Given the description of an element on the screen output the (x, y) to click on. 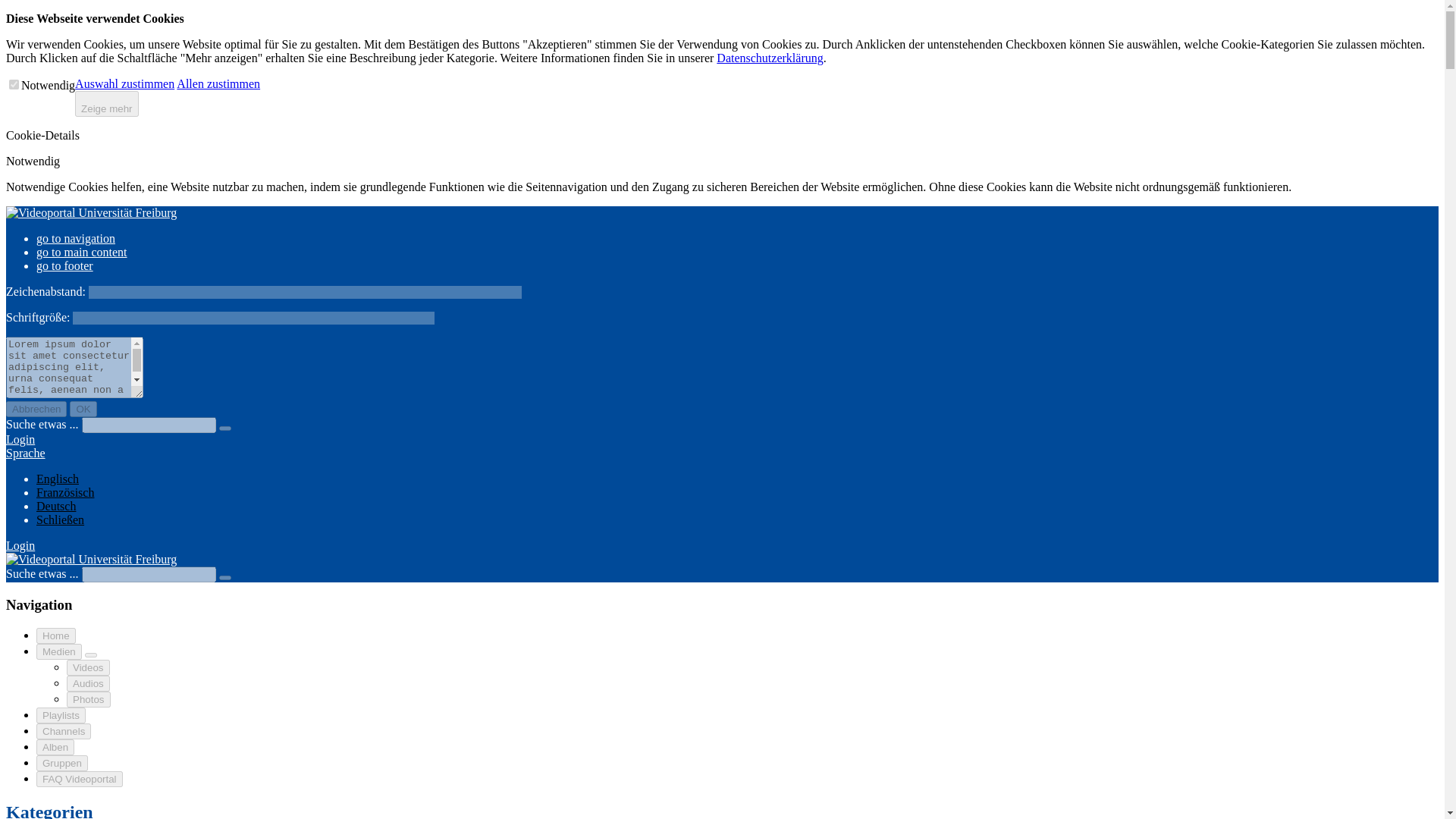
go to footer (64, 265)
Home (55, 635)
on (13, 84)
Zeige mehr (106, 103)
Login (19, 545)
Auswahl zustimmen (124, 83)
Channels (63, 731)
Allen zustimmen (218, 83)
Gruppen (61, 763)
Videos (88, 667)
Abbrechen (35, 408)
OK (82, 408)
go to main content (82, 251)
Photos (88, 699)
FAQ Videoportal (79, 779)
